Given the description of an element on the screen output the (x, y) to click on. 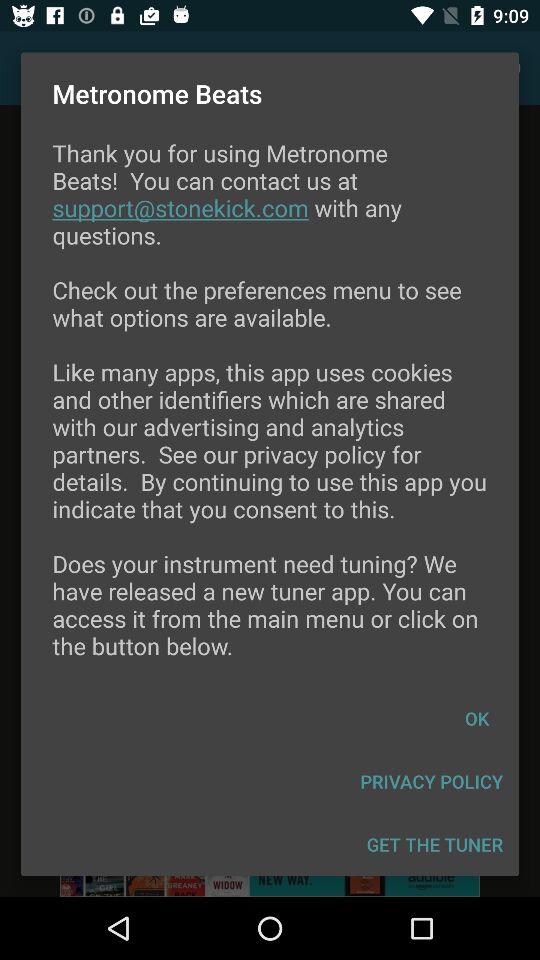
tap the icon above the ok item (270, 411)
